Given the description of an element on the screen output the (x, y) to click on. 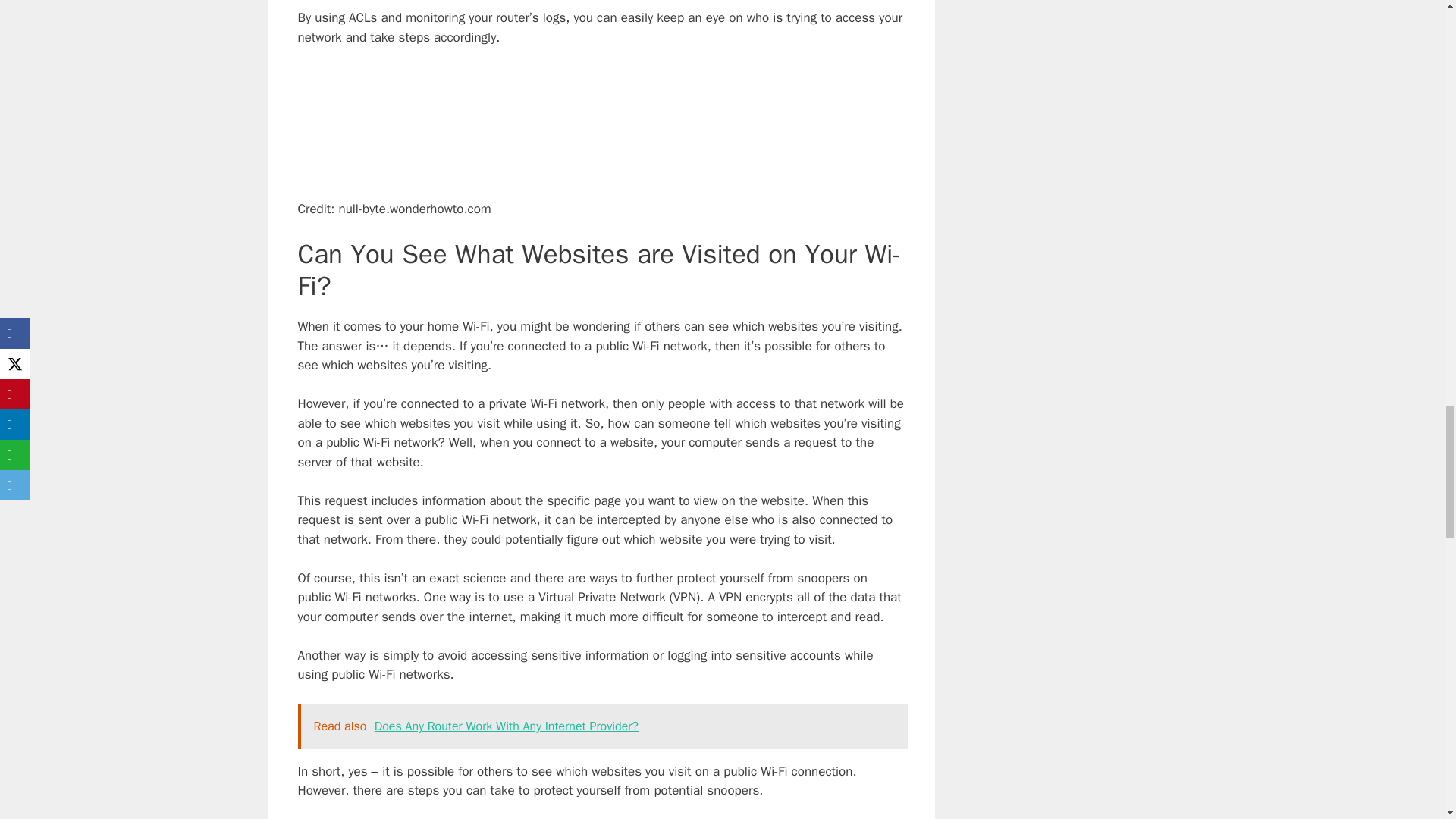
Read also  Does Any Router Work With Any Internet Provider? (602, 726)
